Given the description of an element on the screen output the (x, y) to click on. 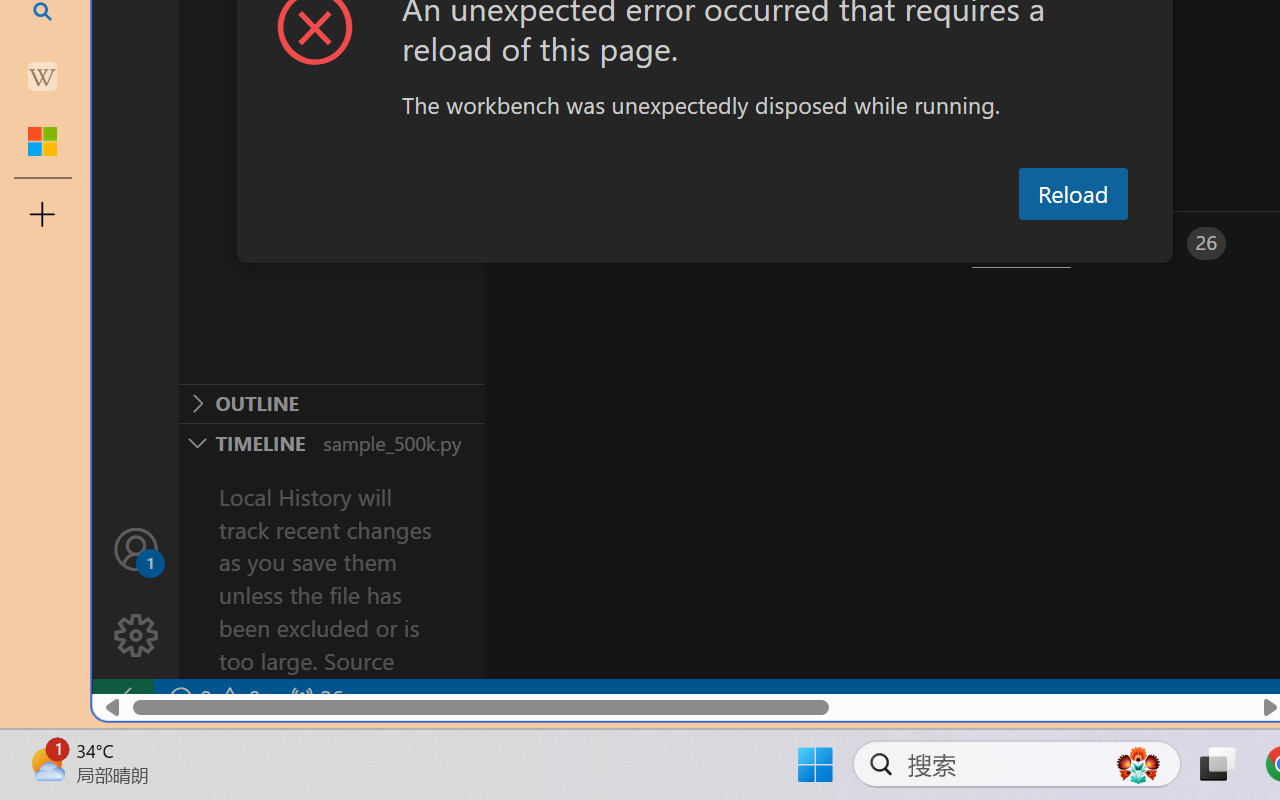
No Problems (212, 698)
Problems (Ctrl+Shift+M) (567, 243)
Ports - 26 forwarded ports (1165, 243)
Accounts - Sign in requested (135, 548)
Reload (1071, 193)
Outline Section (331, 403)
